Given the description of an element on the screen output the (x, y) to click on. 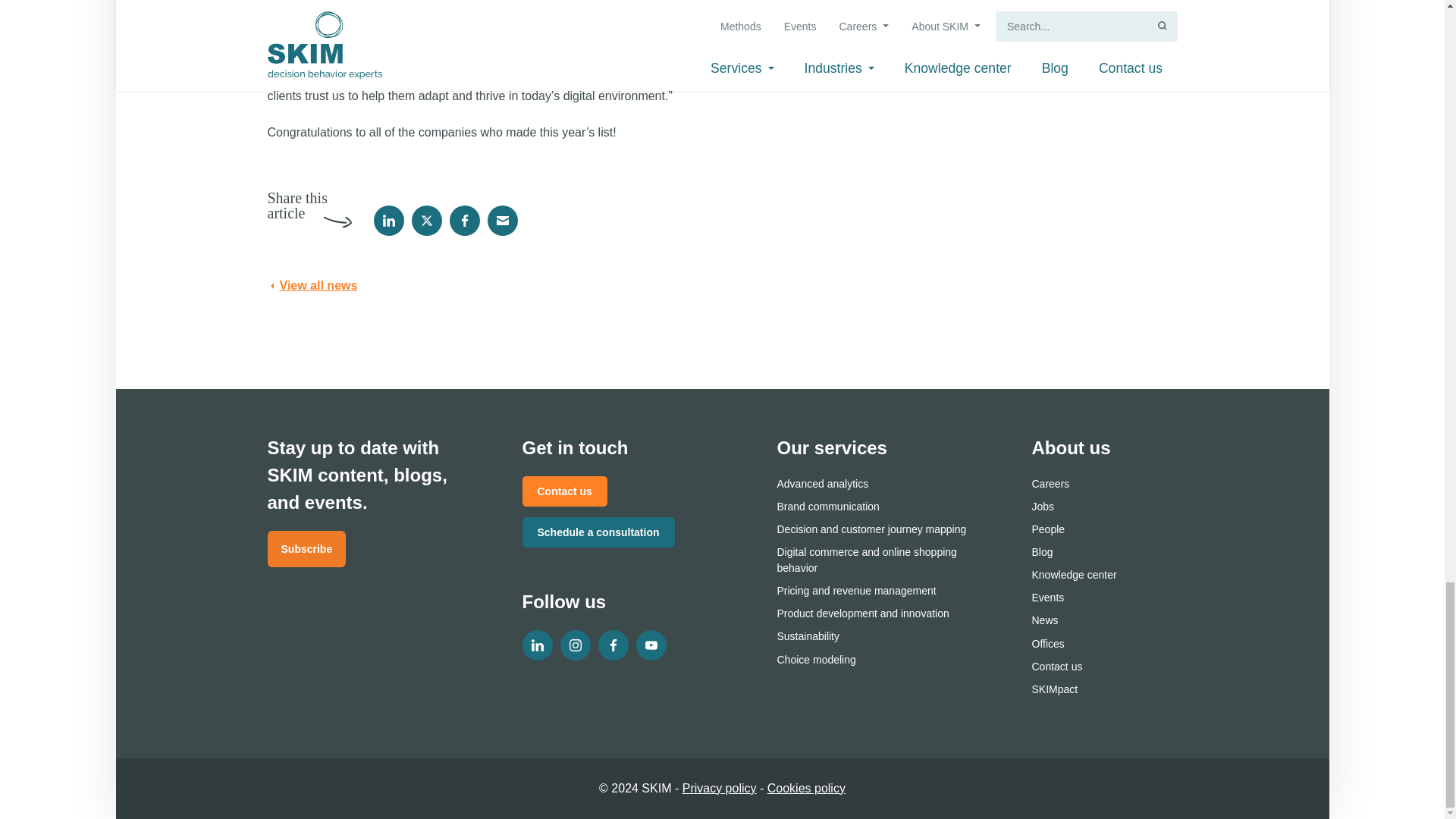
Share this on Twitter (425, 220)
Share this on LinkedIn (387, 220)
View our Instagram profile (574, 644)
Share this on Facebook (463, 220)
Subscribe (306, 548)
View our Facebook profile (611, 644)
E-mail this article (501, 220)
View our YouTube profile (649, 644)
View our LinkedIn profile (536, 644)
